Given the description of an element on the screen output the (x, y) to click on. 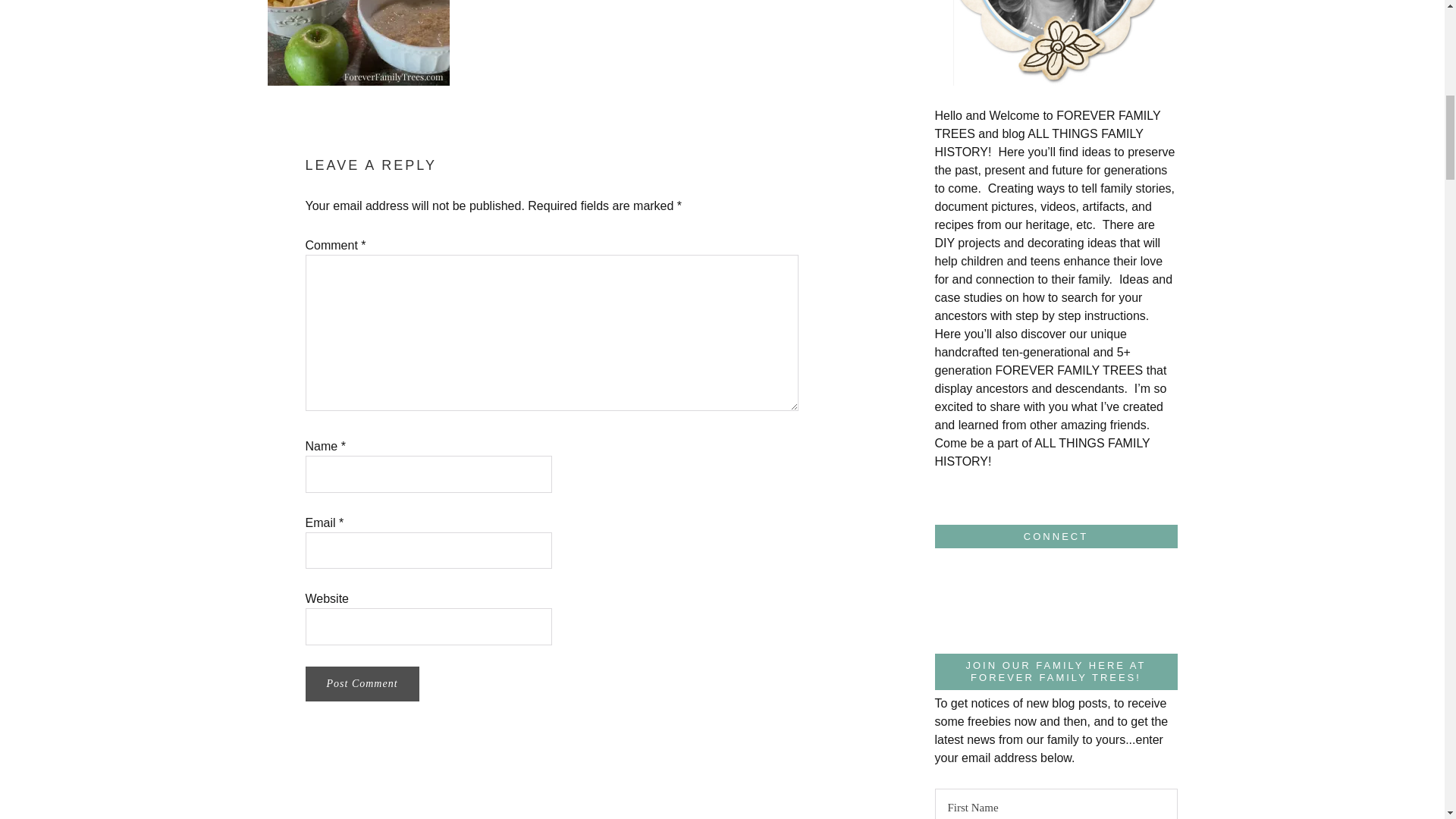
Post Comment (361, 683)
